Given the description of an element on the screen output the (x, y) to click on. 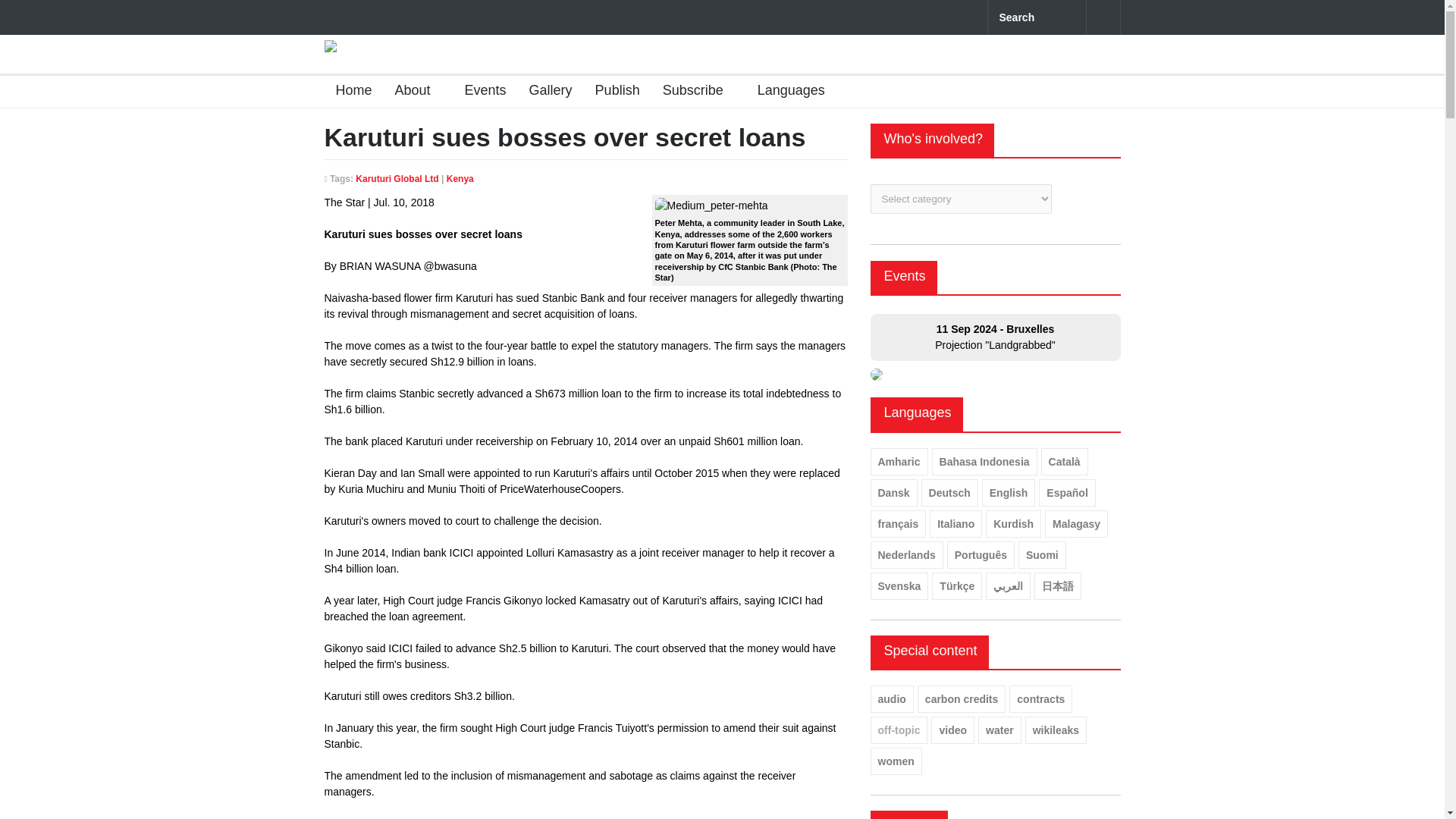
Karuturi Global Ltd (396, 178)
Events (904, 275)
Publish (611, 92)
Languages (796, 92)
Subscribe (697, 92)
Categories (796, 92)
Home (348, 92)
Events (479, 92)
About (418, 92)
Kenya (460, 178)
